Given the description of an element on the screen output the (x, y) to click on. 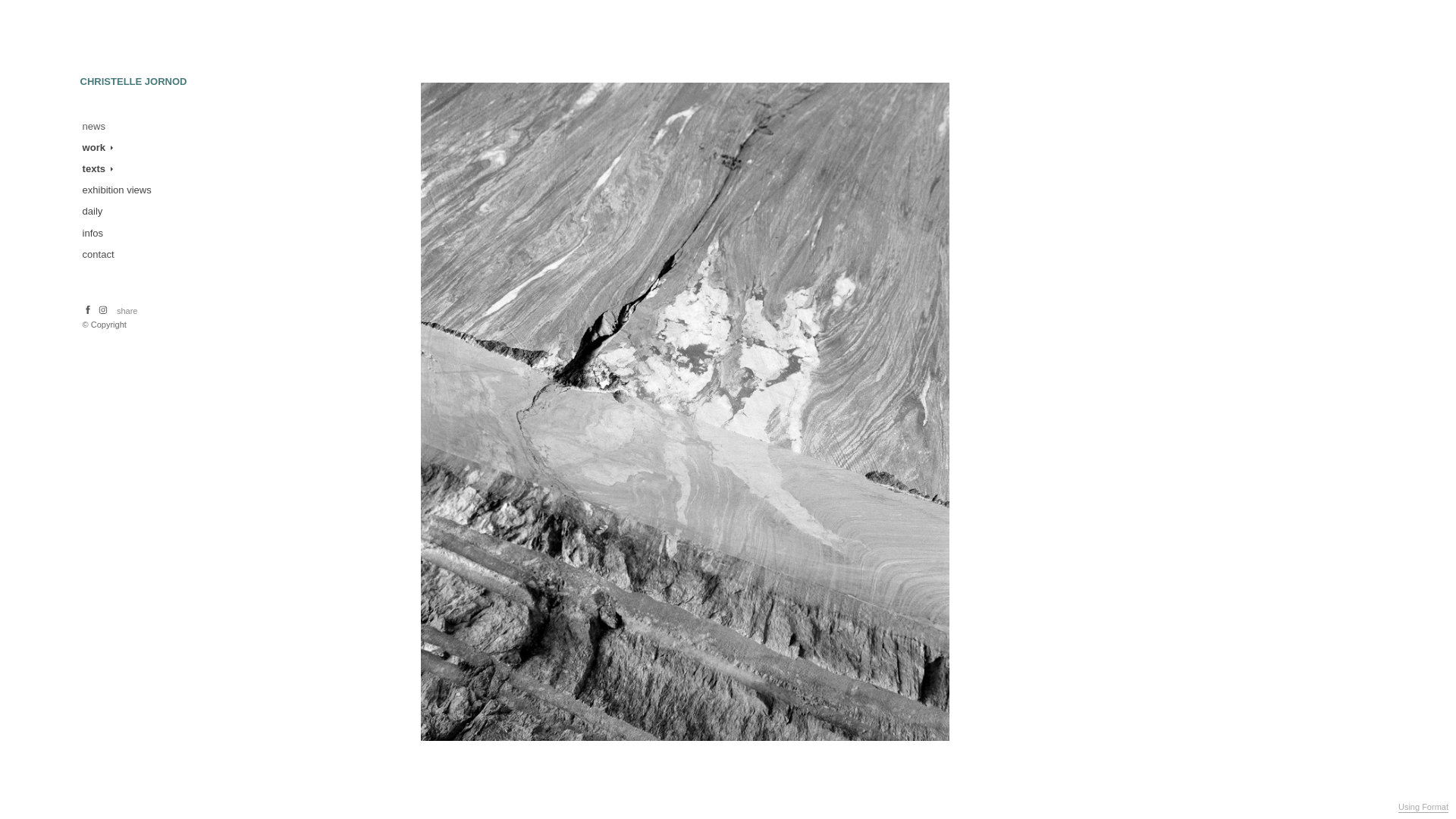
Using Format Element type: text (1423, 807)
news Element type: text (94, 126)
contact Element type: text (99, 254)
infos Element type: text (93, 233)
daily Element type: text (93, 211)
work Element type: text (97, 147)
exhibition views Element type: text (117, 189)
share Element type: text (126, 310)
texts Element type: text (97, 168)
CHRISTELLE JORNOD Element type: text (133, 81)
